Given the description of an element on the screen output the (x, y) to click on. 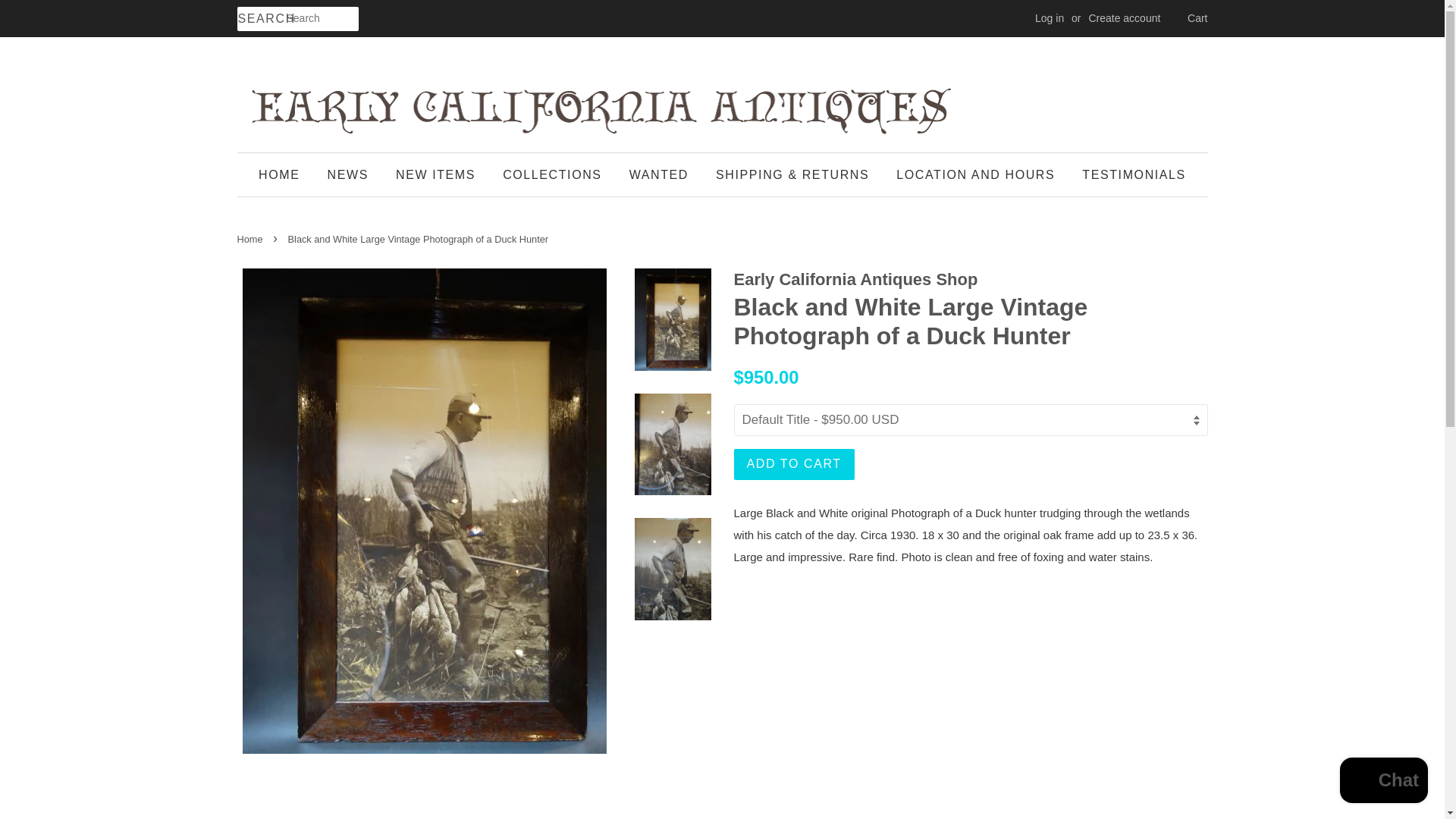
Back to the frontpage (250, 238)
Home (250, 238)
Shopify online store chat (1383, 781)
WANTED (658, 174)
NEW ITEMS (435, 174)
Create account (1123, 18)
SEARCH (260, 18)
HOME (285, 174)
NEWS (347, 174)
COLLECTIONS (552, 174)
